Given the description of an element on the screen output the (x, y) to click on. 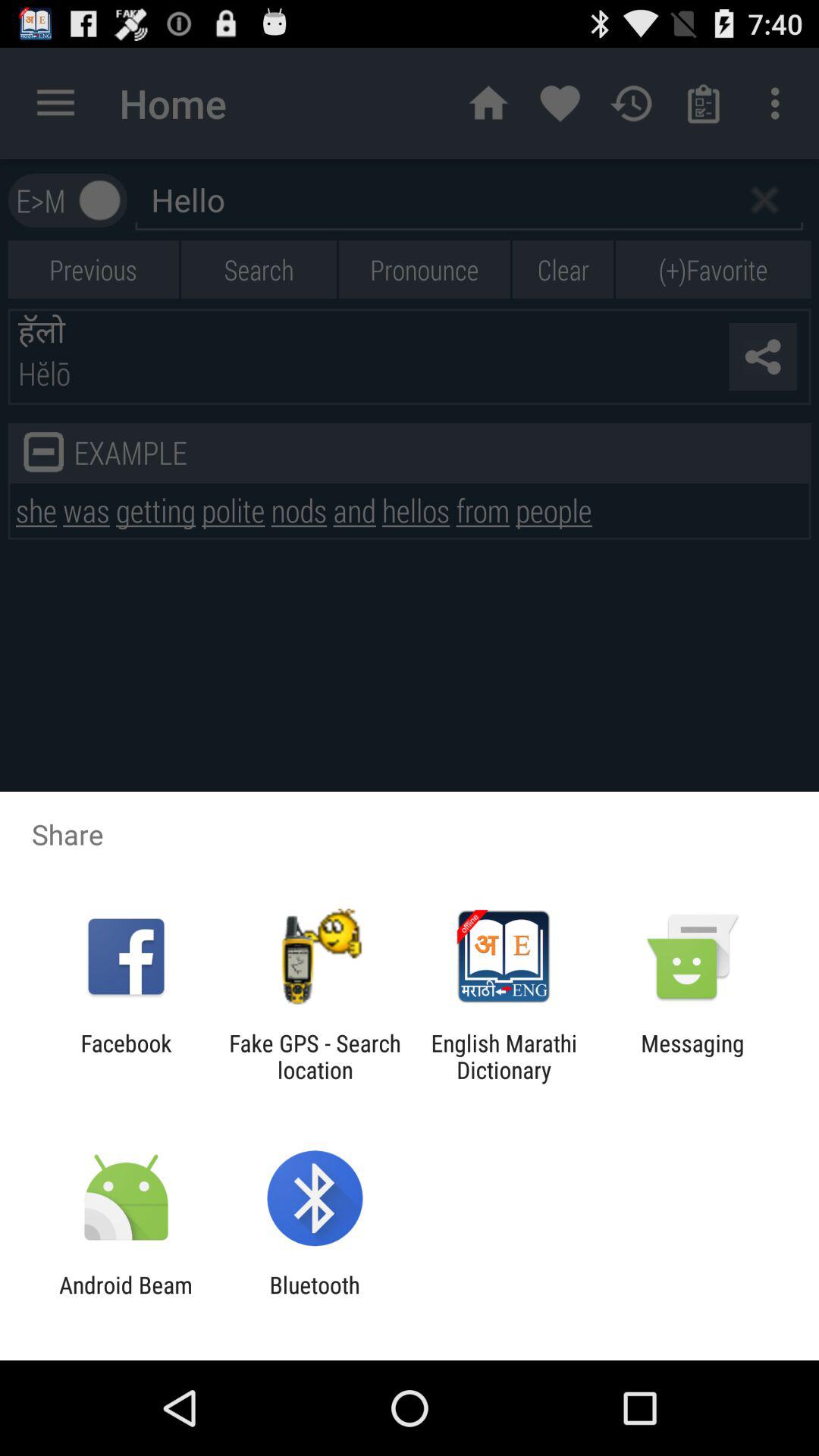
select the messaging item (692, 1056)
